Given the description of an element on the screen output the (x, y) to click on. 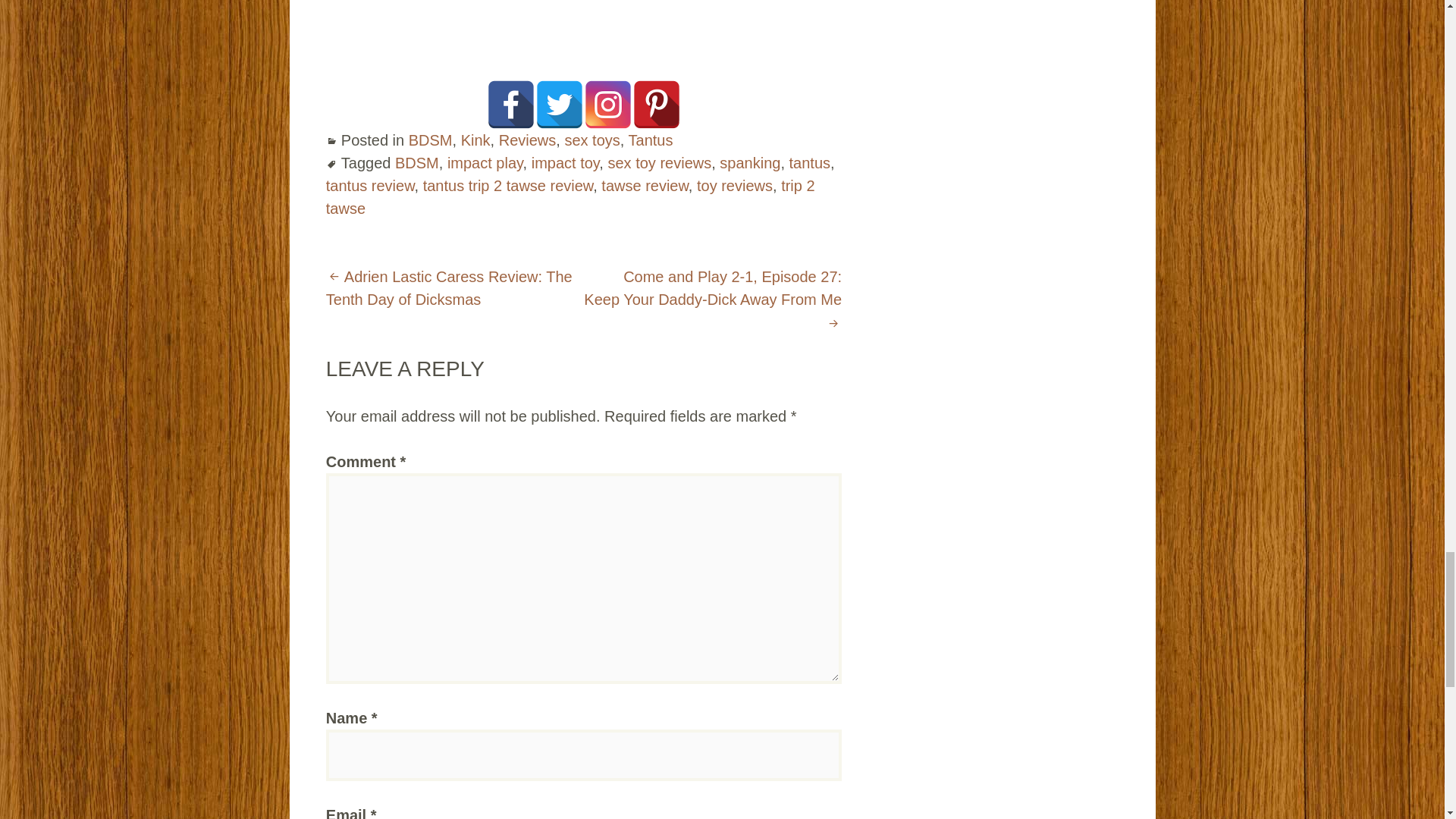
Facebook (510, 104)
Pinterest (656, 104)
Instagram (607, 104)
Twitter (559, 104)
